Given the description of an element on the screen output the (x, y) to click on. 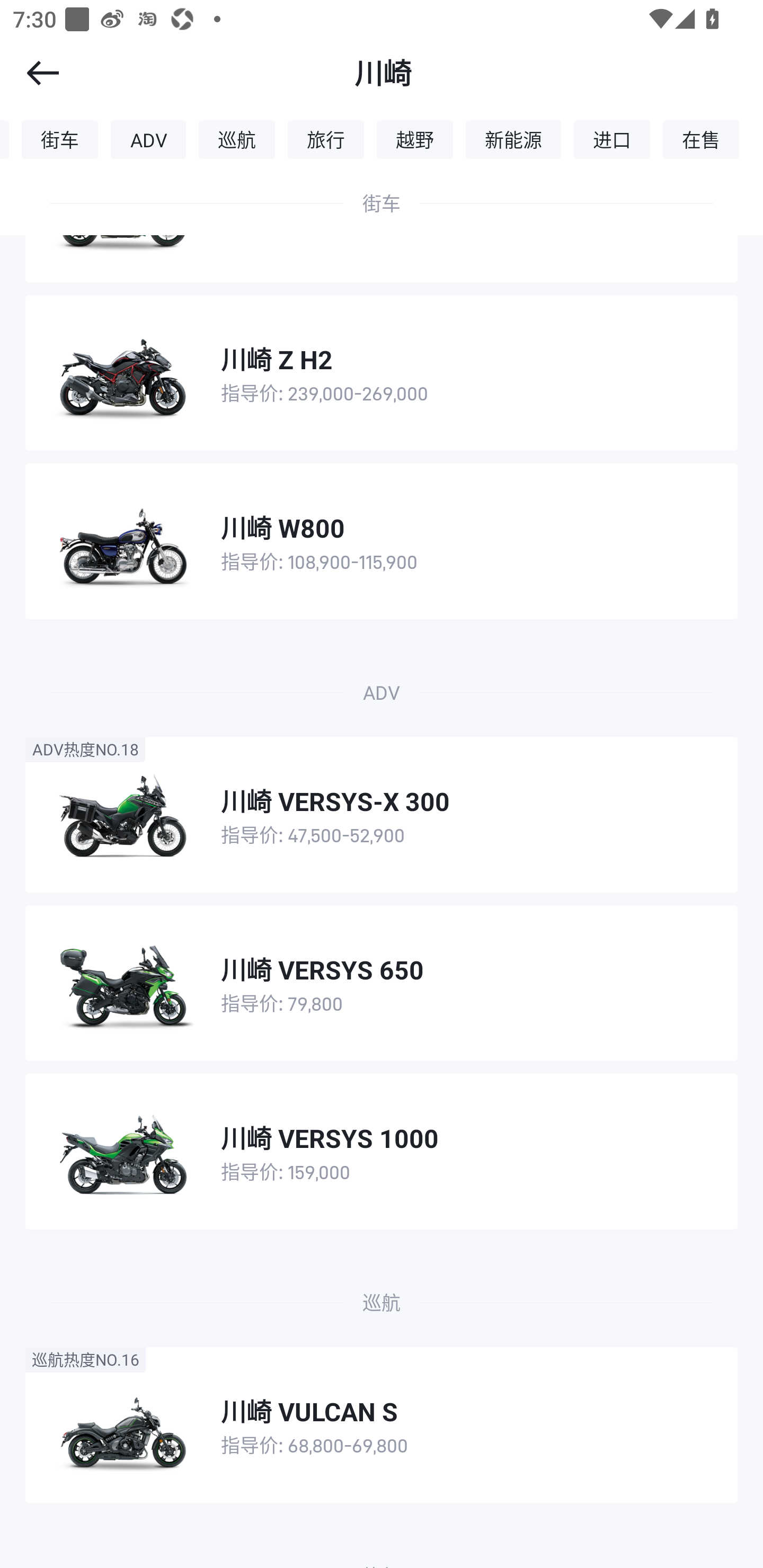
 (30, 72)
街车 (59, 139)
ADV (148, 139)
巡航 (236, 139)
旅行 (325, 139)
越野 (414, 139)
新能源 (512, 139)
进口 (611, 139)
在售 (701, 139)
川崎 Z H2 指导价: 239,000-269,000 (381, 372)
川崎 W800 指导价: 108,900-115,900 (381, 541)
ADV热度NO.18 川崎 VERSYS-X 300 指导价: 47,500-52,900 (381, 814)
ADV热度NO.18 (84, 749)
川崎 VERSYS 650 指导价: 79,800 (381, 982)
川崎 VERSYS 1000 指导价: 159,000 (381, 1151)
巡航热度NO.16 川崎 VULCAN S 指导价: 68,800-69,800 (381, 1424)
巡航热度NO.16 (85, 1359)
